Given the description of an element on the screen output the (x, y) to click on. 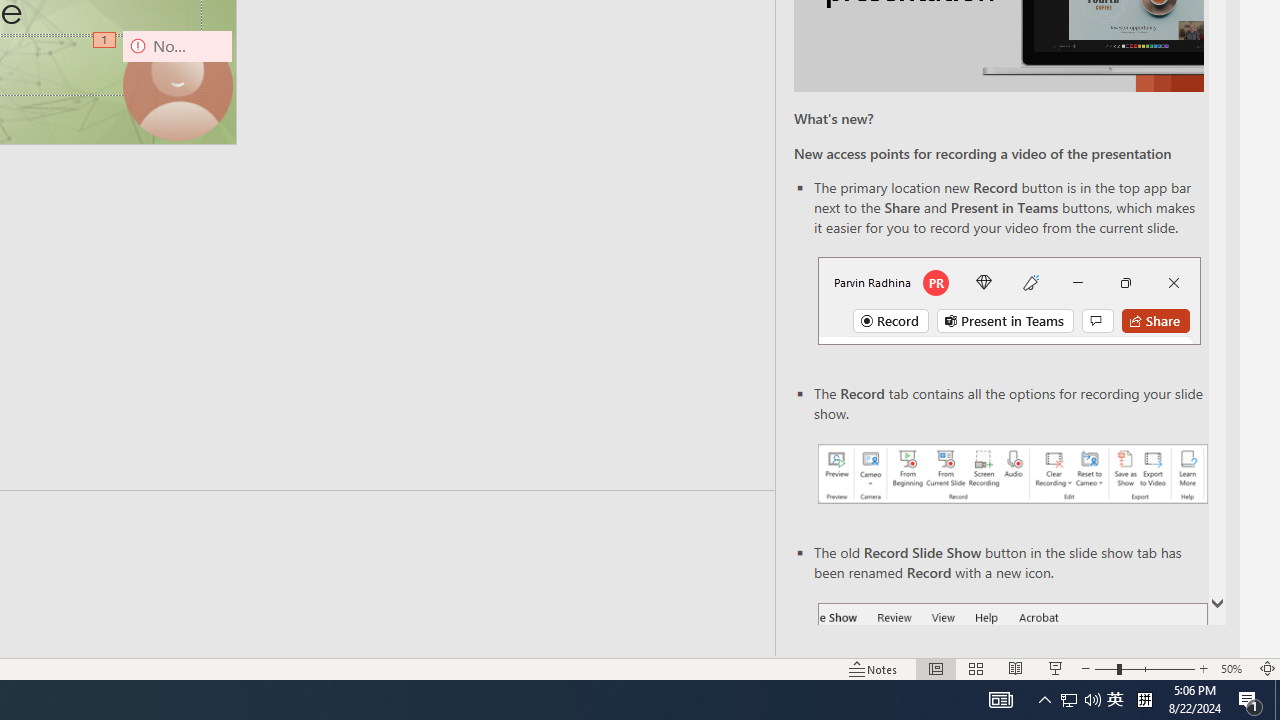
Record button in top bar (1008, 300)
Camera 9, No camera detected. (177, 84)
Zoom 50% (1234, 668)
Animation, sequence 1, on Camera 9 (106, 41)
Record your presentations screenshot one (1012, 473)
